Given the description of an element on the screen output the (x, y) to click on. 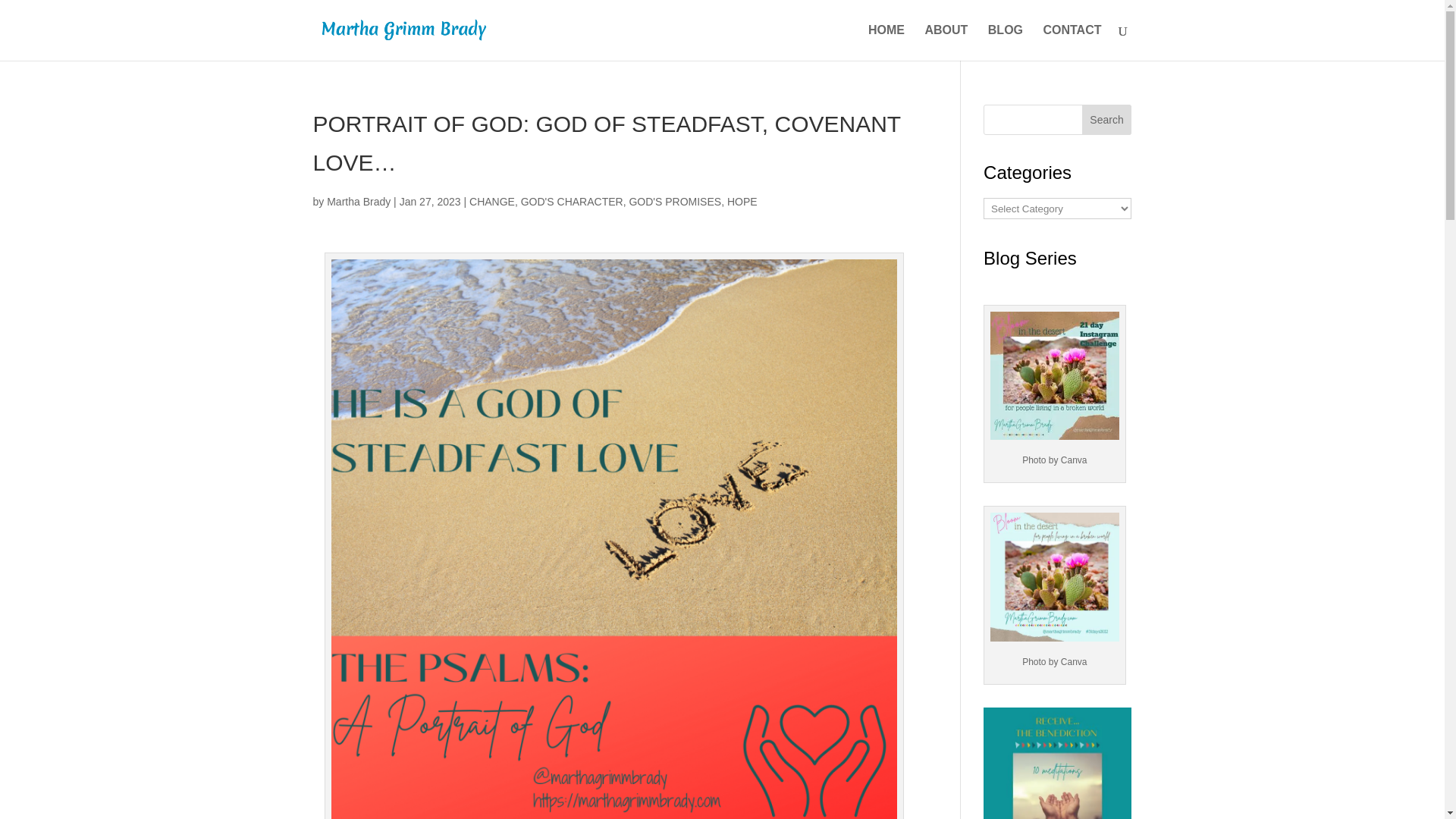
Search (1106, 119)
BLOG (1005, 42)
ABOUT (946, 42)
Search (1106, 119)
CHANGE (491, 201)
HOPE (741, 201)
GOD'S PROMISES (674, 201)
Posts by Martha Brady (358, 201)
Martha Brady (358, 201)
HOME (885, 42)
